Given the description of an element on the screen output the (x, y) to click on. 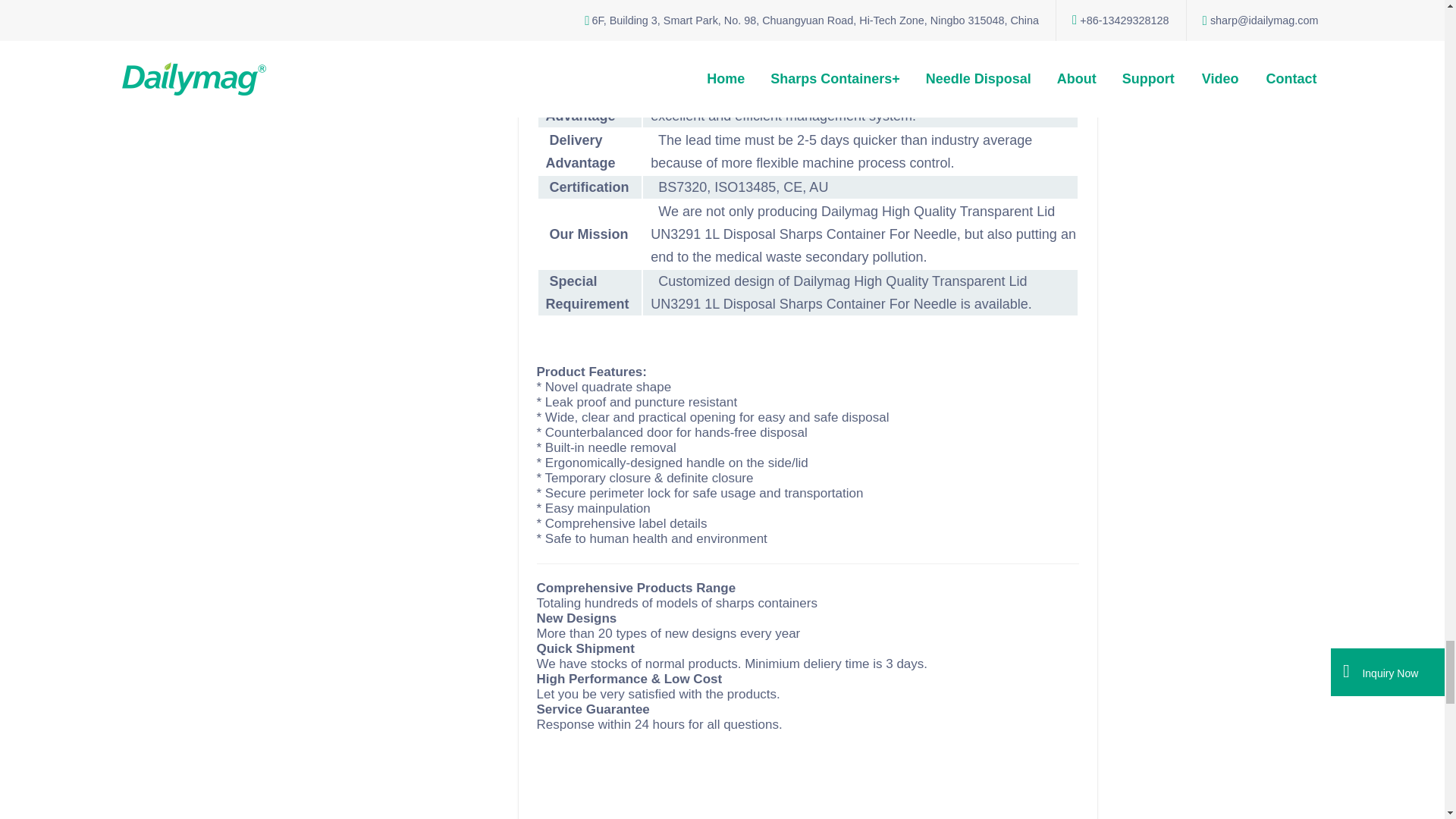
1L sharps box (650, 783)
